Given the description of an element on the screen output the (x, y) to click on. 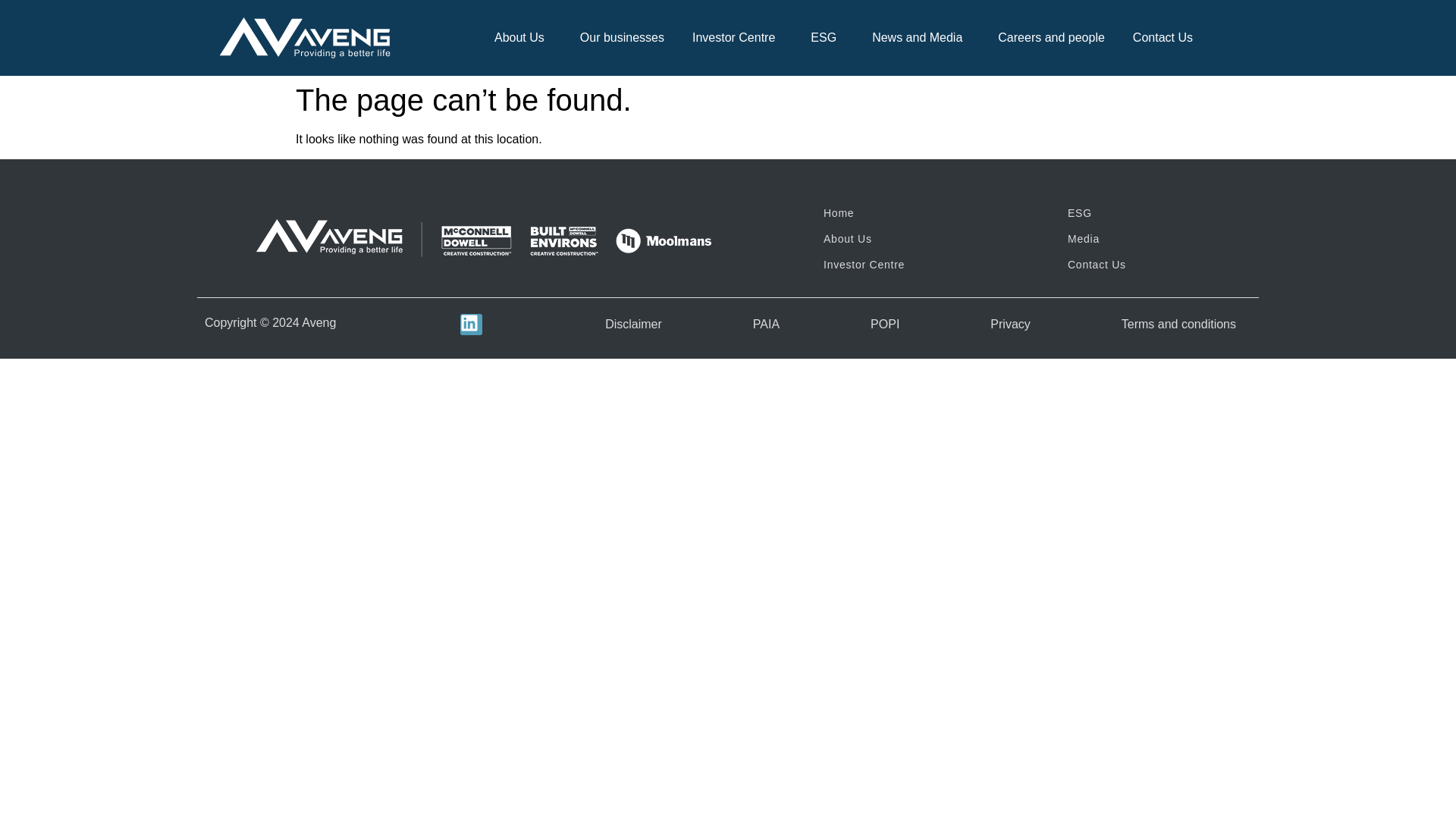
News and Media (920, 37)
Investor Centre (737, 37)
Linkedin (470, 324)
Our businesses (622, 37)
ESG (826, 37)
Contact Us (1162, 37)
Careers and people (1051, 37)
Aveng home (304, 37)
About Us (523, 37)
